Given the description of an element on the screen output the (x, y) to click on. 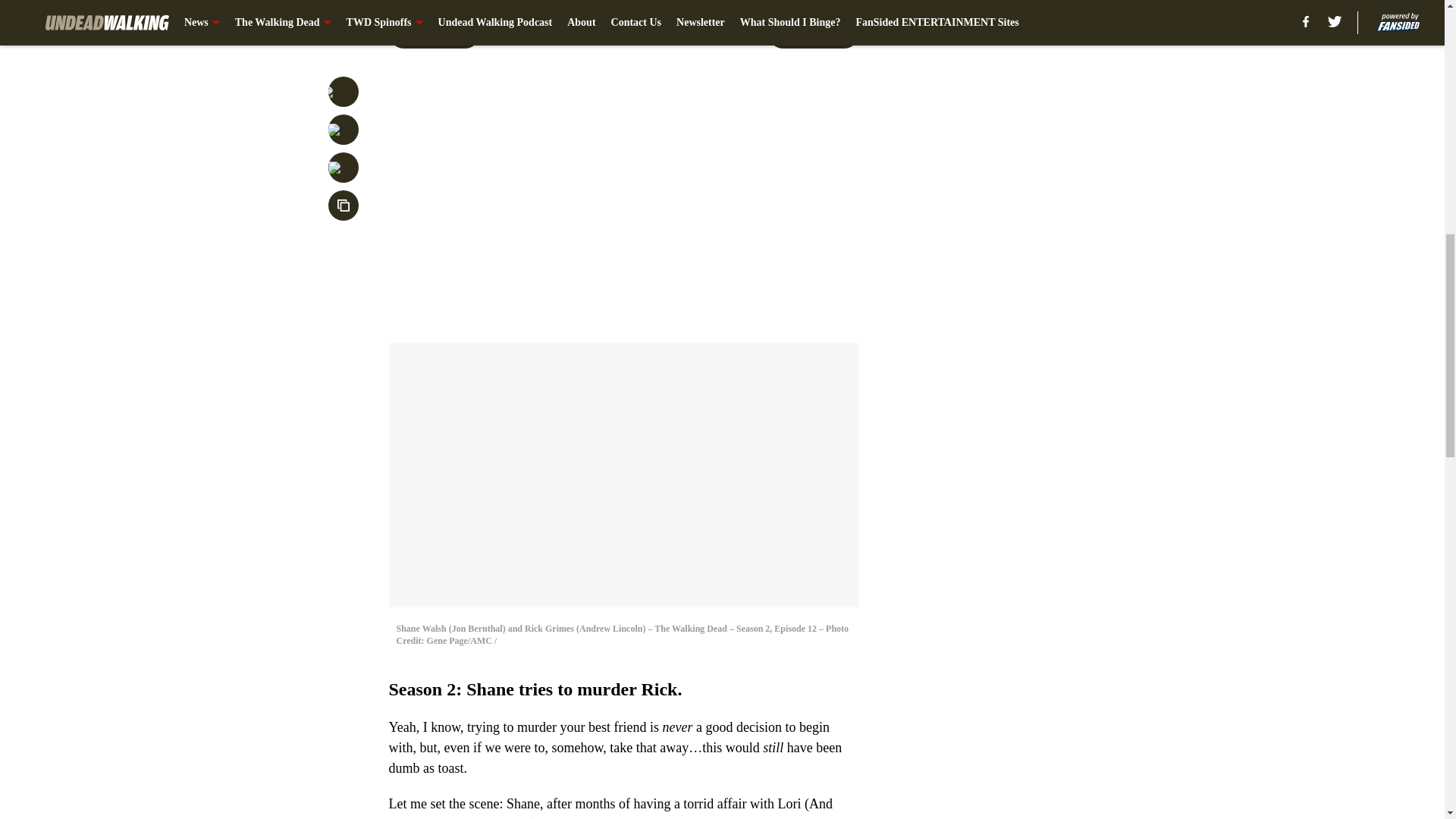
Prev (433, 33)
Next (813, 33)
